Given the description of an element on the screen output the (x, y) to click on. 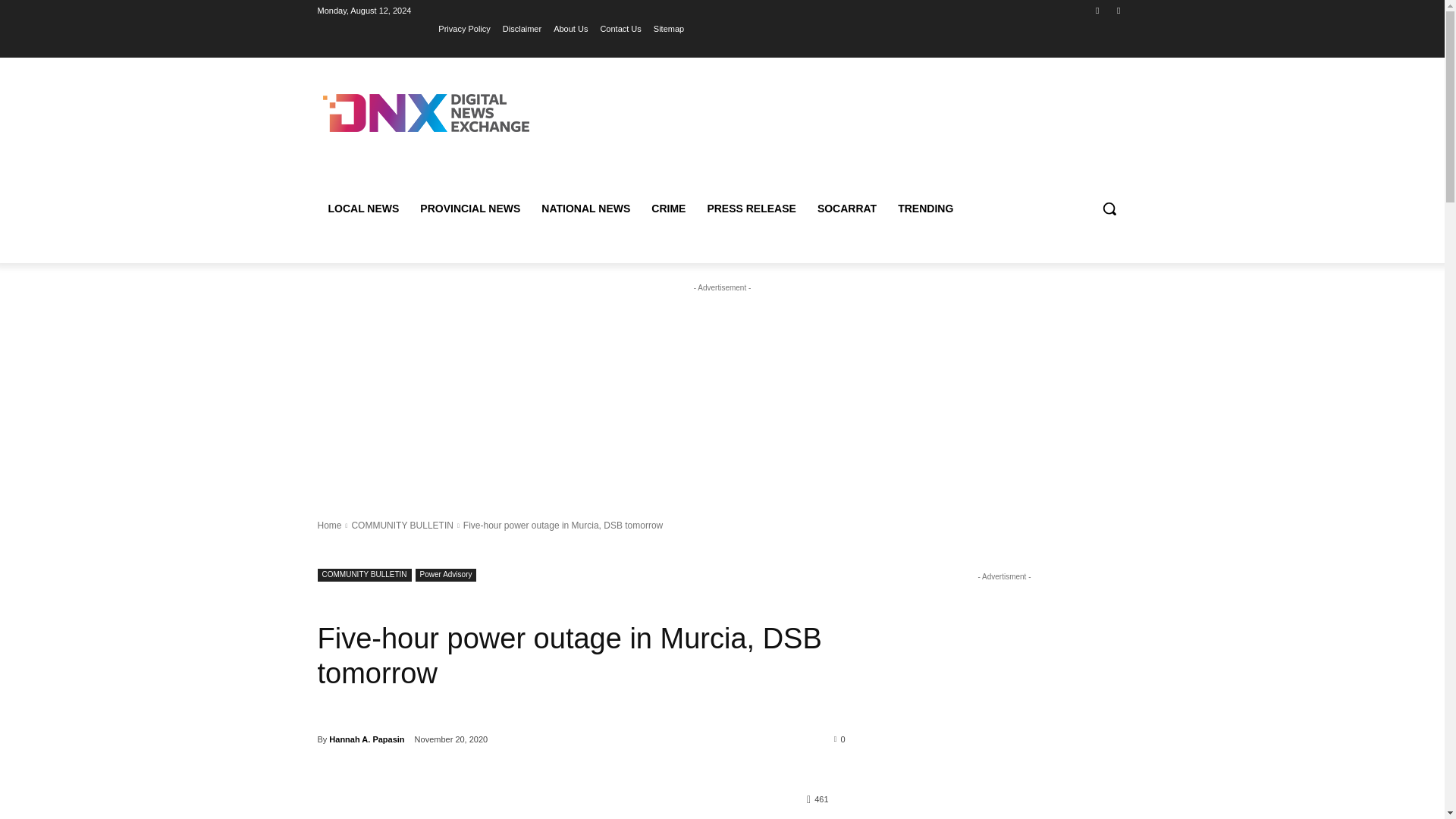
Twitter (1117, 9)
Contact Us (619, 28)
COMMUNITY BULLETIN (363, 574)
COMMUNITY BULLETIN (401, 525)
View all posts in COMMUNITY BULLETIN (401, 525)
0 (839, 737)
TRENDING (924, 208)
CRIME (667, 208)
